Given the description of an element on the screen output the (x, y) to click on. 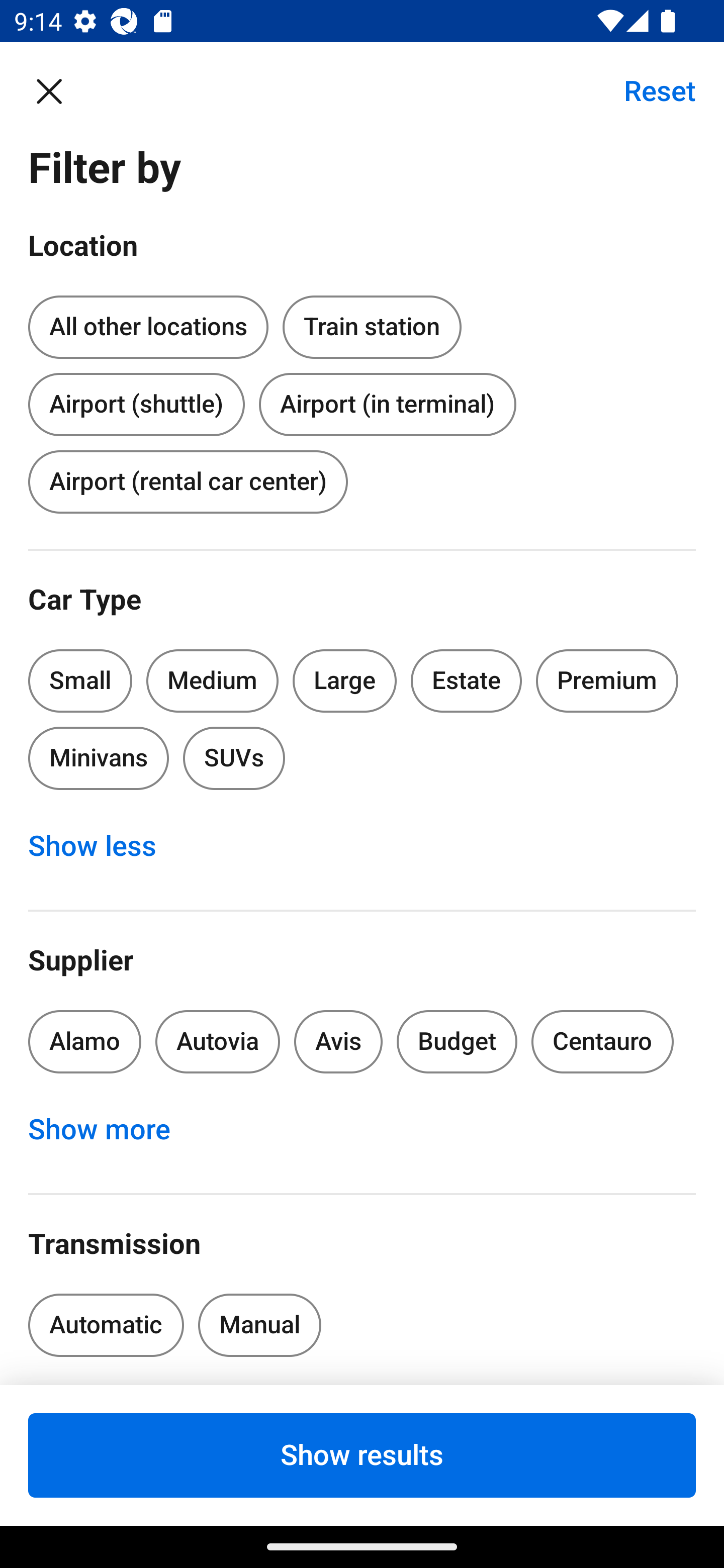
Close (59, 90)
Reset (649, 90)
All other locations (148, 327)
Train station (371, 323)
Airport (shuttle) (136, 400)
Airport (in terminal) (387, 404)
Airport (rental car center) (187, 481)
Small (80, 680)
Medium (212, 680)
Large (344, 680)
Estate (466, 680)
Premium (606, 680)
Minivans (98, 758)
SUVs (233, 758)
Show less (102, 846)
Alamo (84, 1041)
Autovia (217, 1041)
Avis (338, 1041)
Budget (456, 1041)
Centauro (602, 1041)
Show more (109, 1129)
Automatic (105, 1324)
Manual (259, 1324)
Show results (361, 1454)
